Given the description of an element on the screen output the (x, y) to click on. 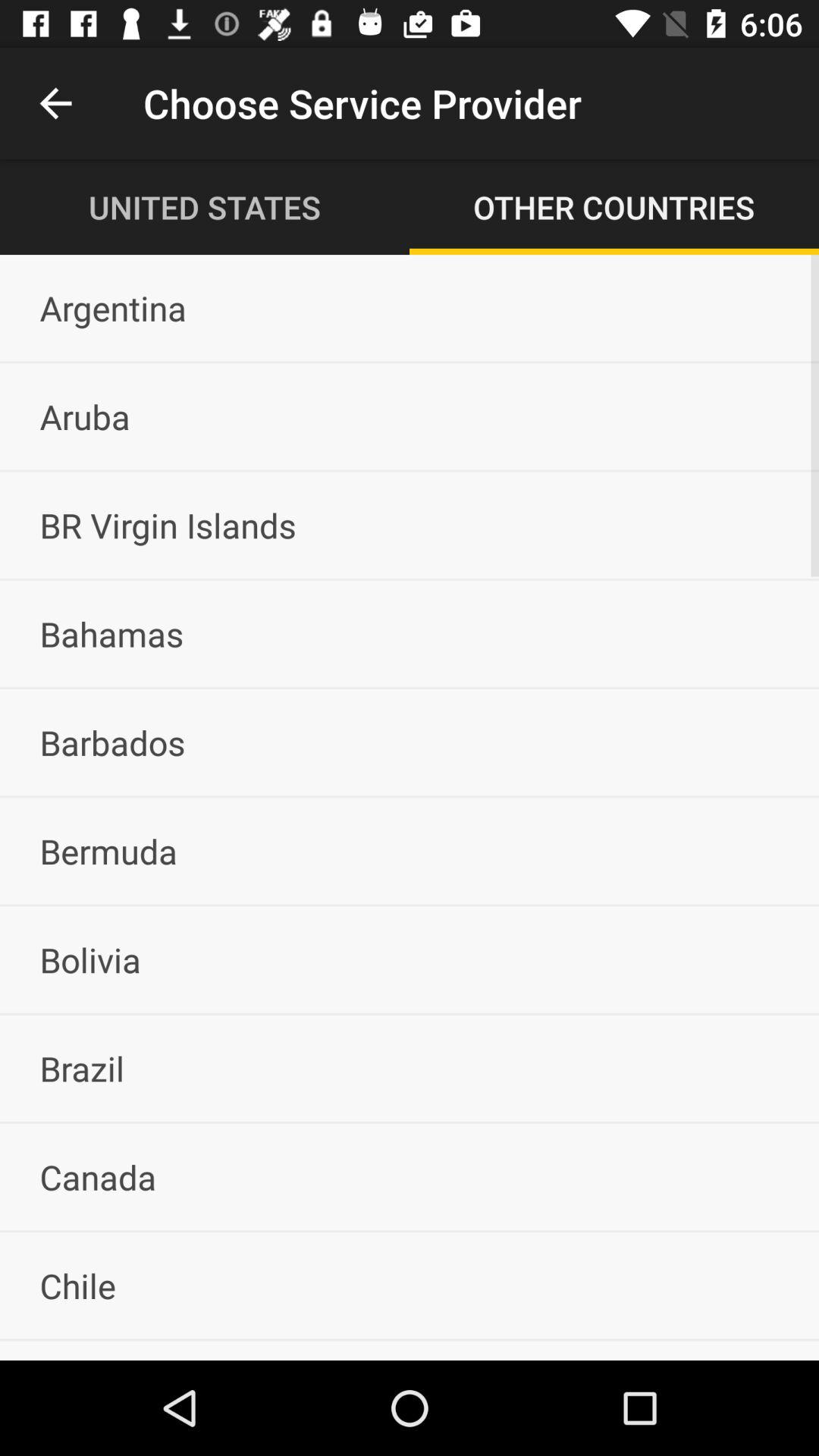
launch the icon below the bermuda (409, 959)
